Given the description of an element on the screen output the (x, y) to click on. 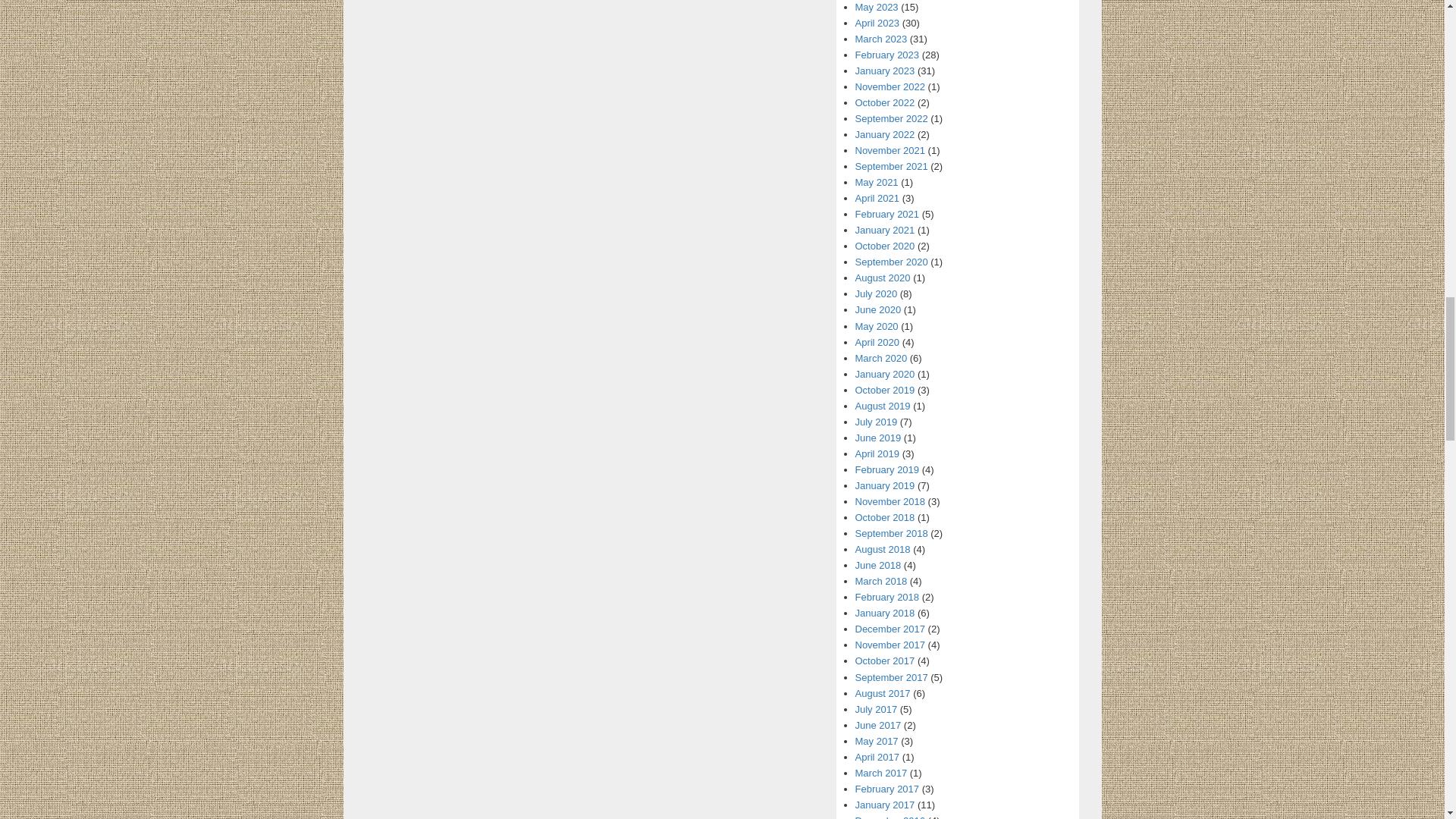
May 2023 (877, 7)
April 2023 (877, 22)
